Given the description of an element on the screen output the (x, y) to click on. 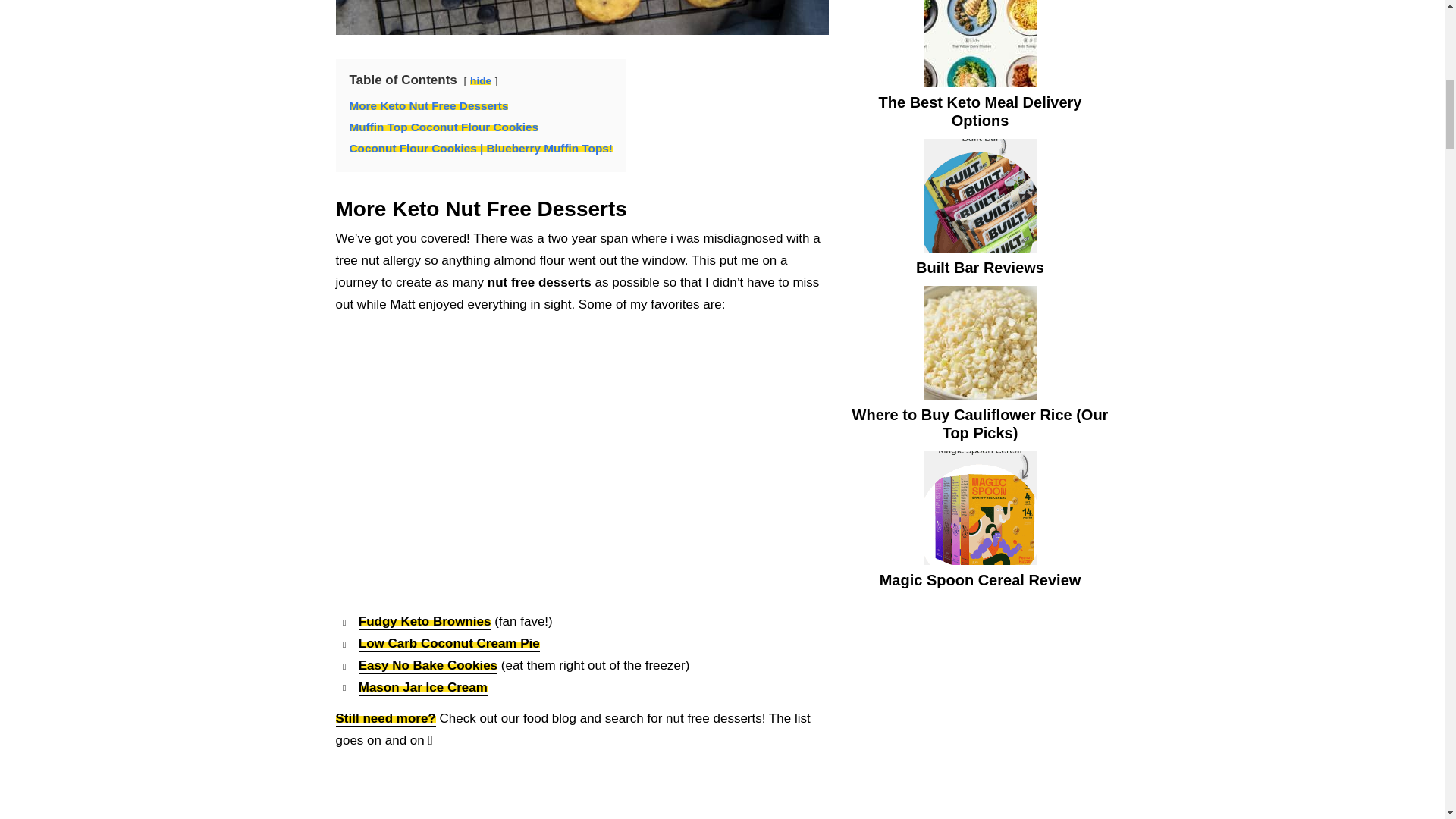
coconut flour cookies (581, 17)
